Given the description of an element on the screen output the (x, y) to click on. 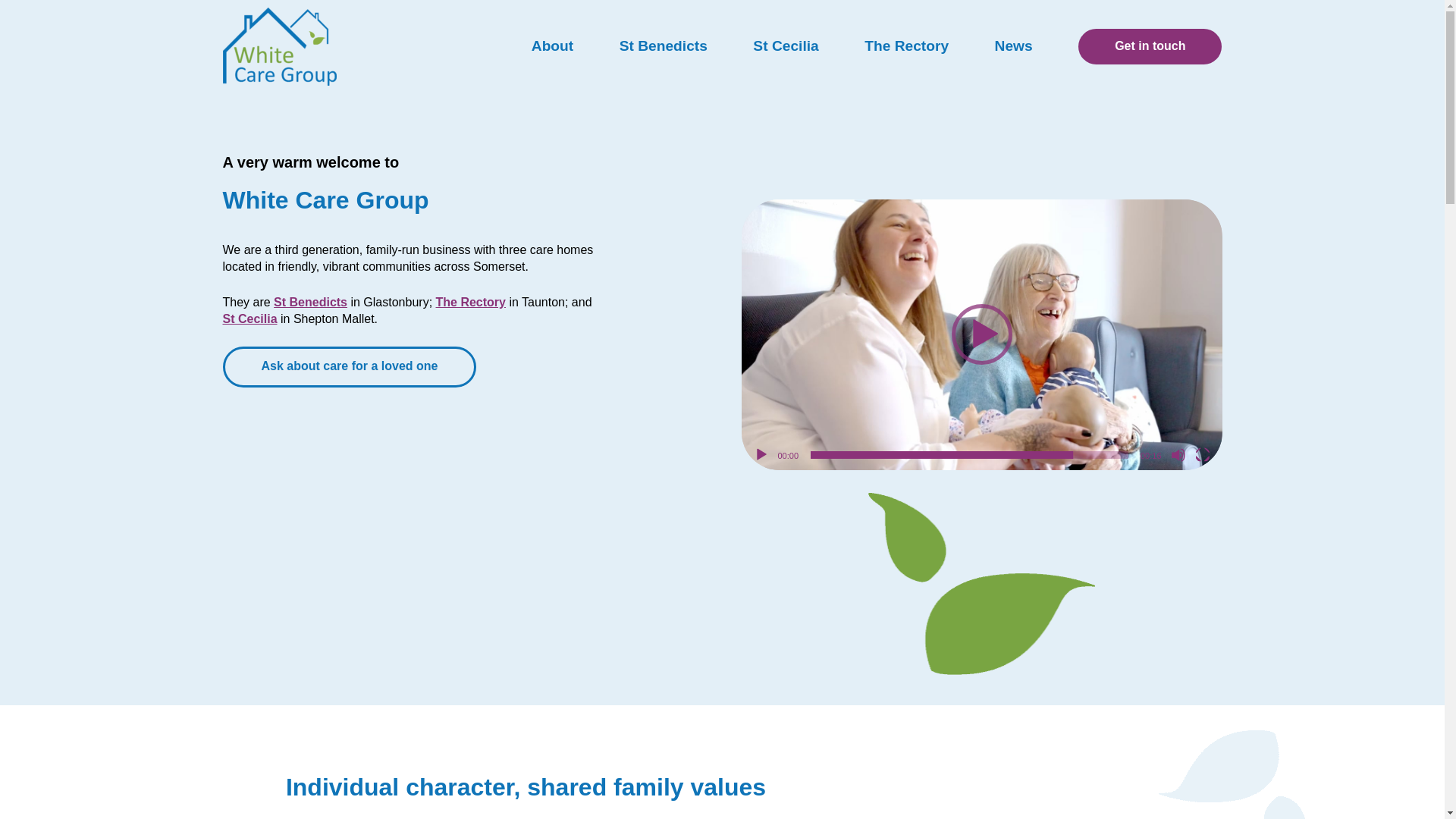
St Cecilia (785, 46)
The Rectory (470, 301)
St Benedicts (663, 46)
St Cecilia (250, 318)
Mute (1178, 454)
St Benedicts (310, 301)
White-Care-Group-logo (279, 46)
News (1013, 46)
Play (761, 454)
About (552, 46)
The Rectory (906, 46)
Fullscreen (1202, 454)
Ask about care for a loved one (349, 366)
Get in touch (1149, 46)
